Given the description of an element on the screen output the (x, y) to click on. 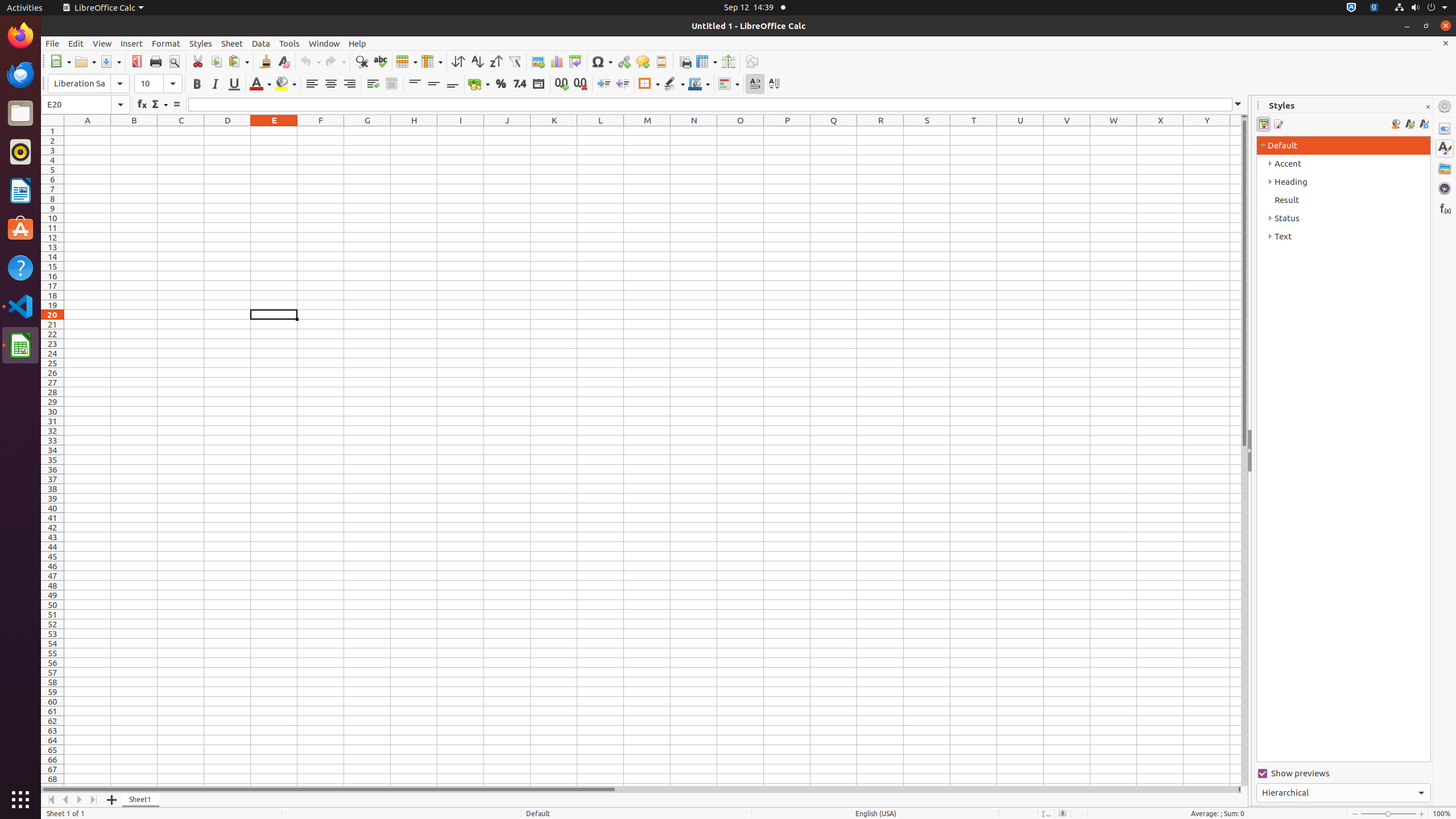
Percent Element type: push-button (500, 83)
Paste Element type: push-button (237, 61)
Move Left Element type: push-button (65, 799)
Conditional Element type: push-button (728, 83)
Align Bottom Element type: push-button (452, 83)
